Given the description of an element on the screen output the (x, y) to click on. 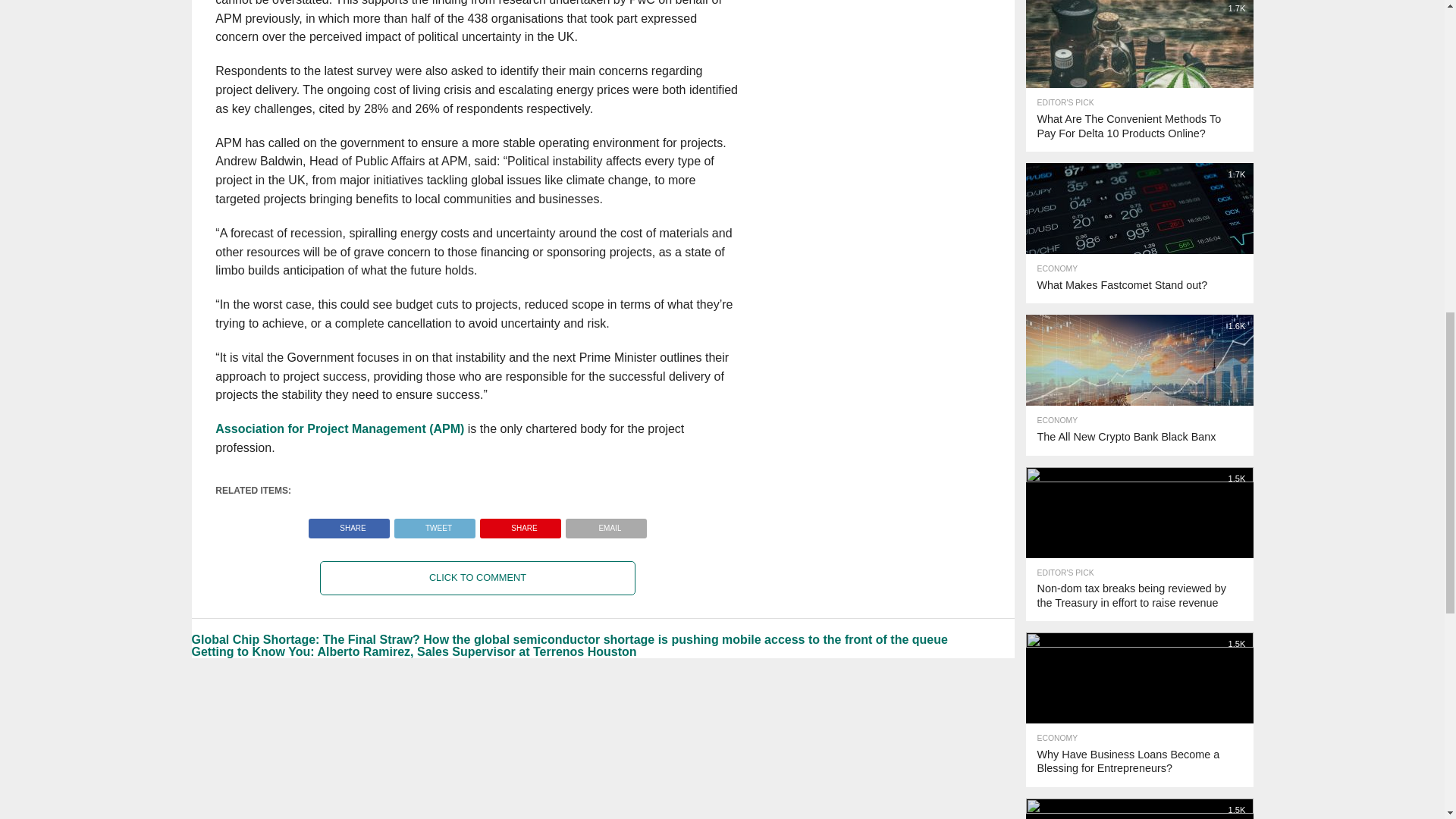
Share on Facebook (349, 523)
EMAIL (605, 523)
TWEET (434, 523)
SHARE (520, 523)
Tweet This Post (434, 523)
SHARE (349, 523)
Pin This Post (520, 523)
